Given the description of an element on the screen output the (x, y) to click on. 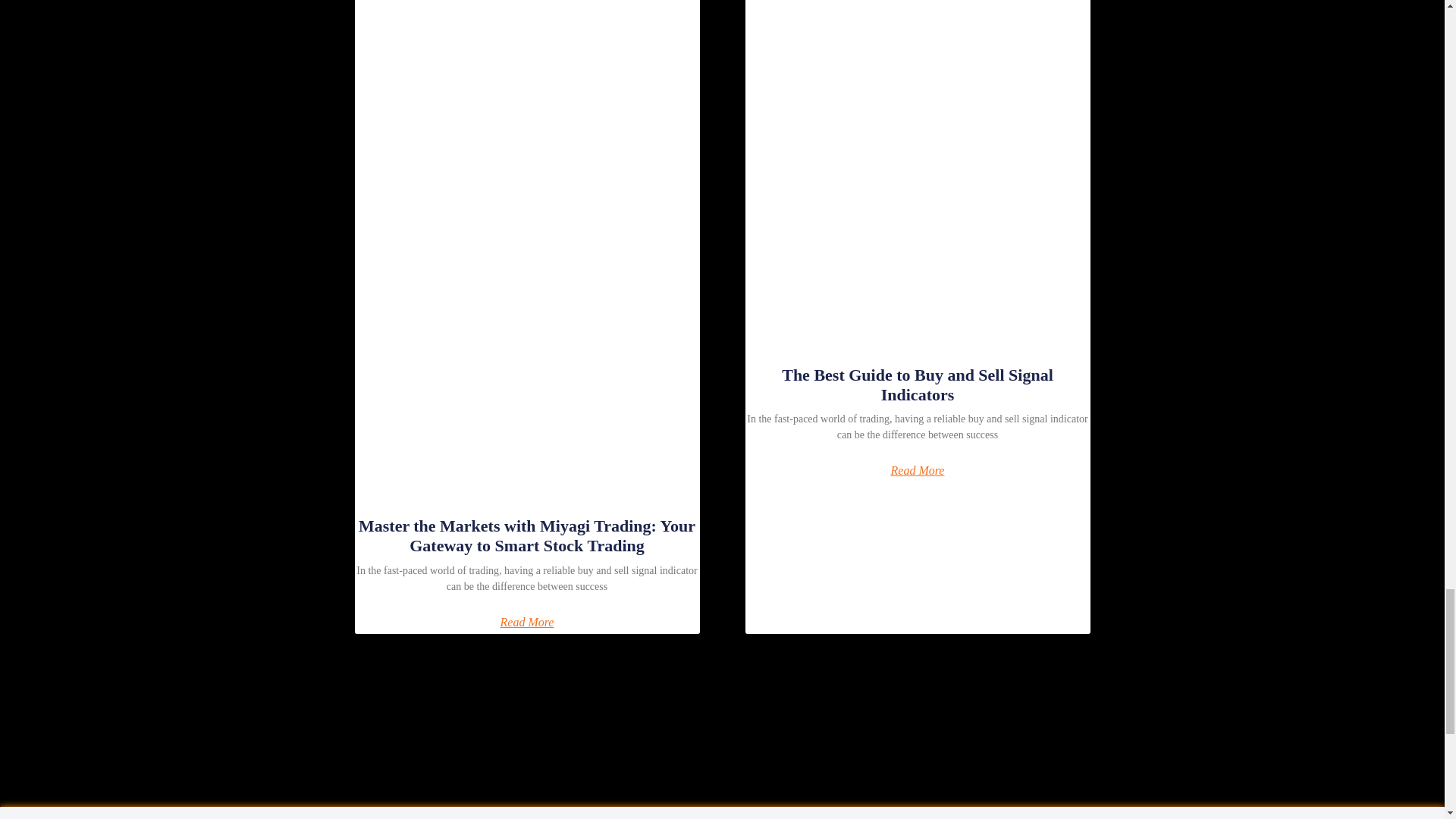
Read More (527, 622)
The Best Guide to Buy and Sell Signal Indicators (916, 384)
Read More (917, 470)
